Given the description of an element on the screen output the (x, y) to click on. 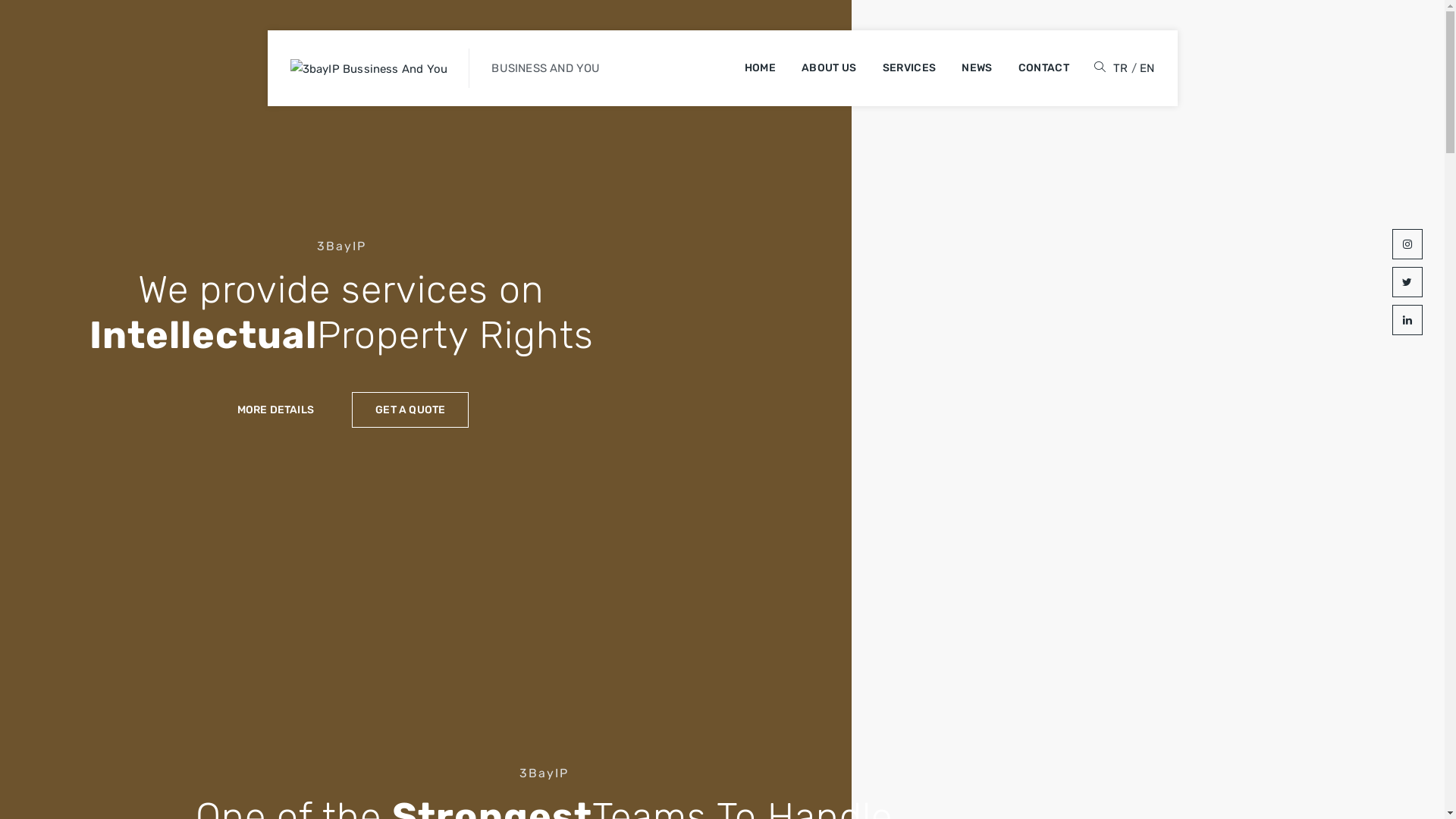
MORE DETAILS Element type: text (275, 408)
GET A QUOTE Element type: text (409, 408)
ABOUT US Element type: text (828, 68)
SERVICES Element type: text (909, 68)
EN Element type: text (1146, 68)
CONTACT Element type: text (1043, 68)
TR Element type: text (1120, 68)
NEWS Element type: text (976, 68)
HOME Element type: text (760, 68)
